Given the description of an element on the screen output the (x, y) to click on. 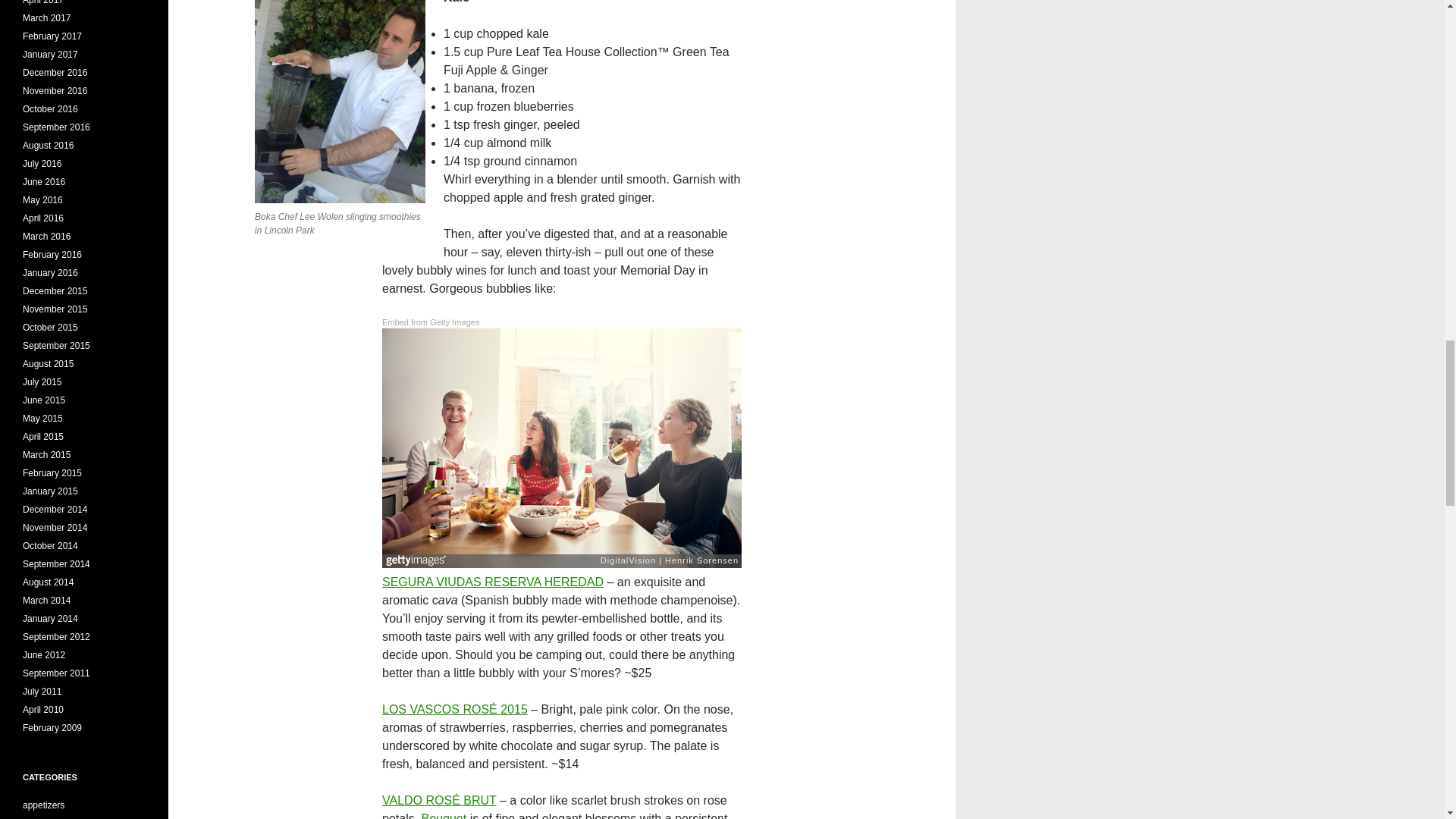
SEGURA VIUDAS RESERVA HEREDAD (492, 581)
Bouquet (444, 815)
Aroma of wine (444, 815)
Embed from Getty Images (430, 322)
